Given the description of an element on the screen output the (x, y) to click on. 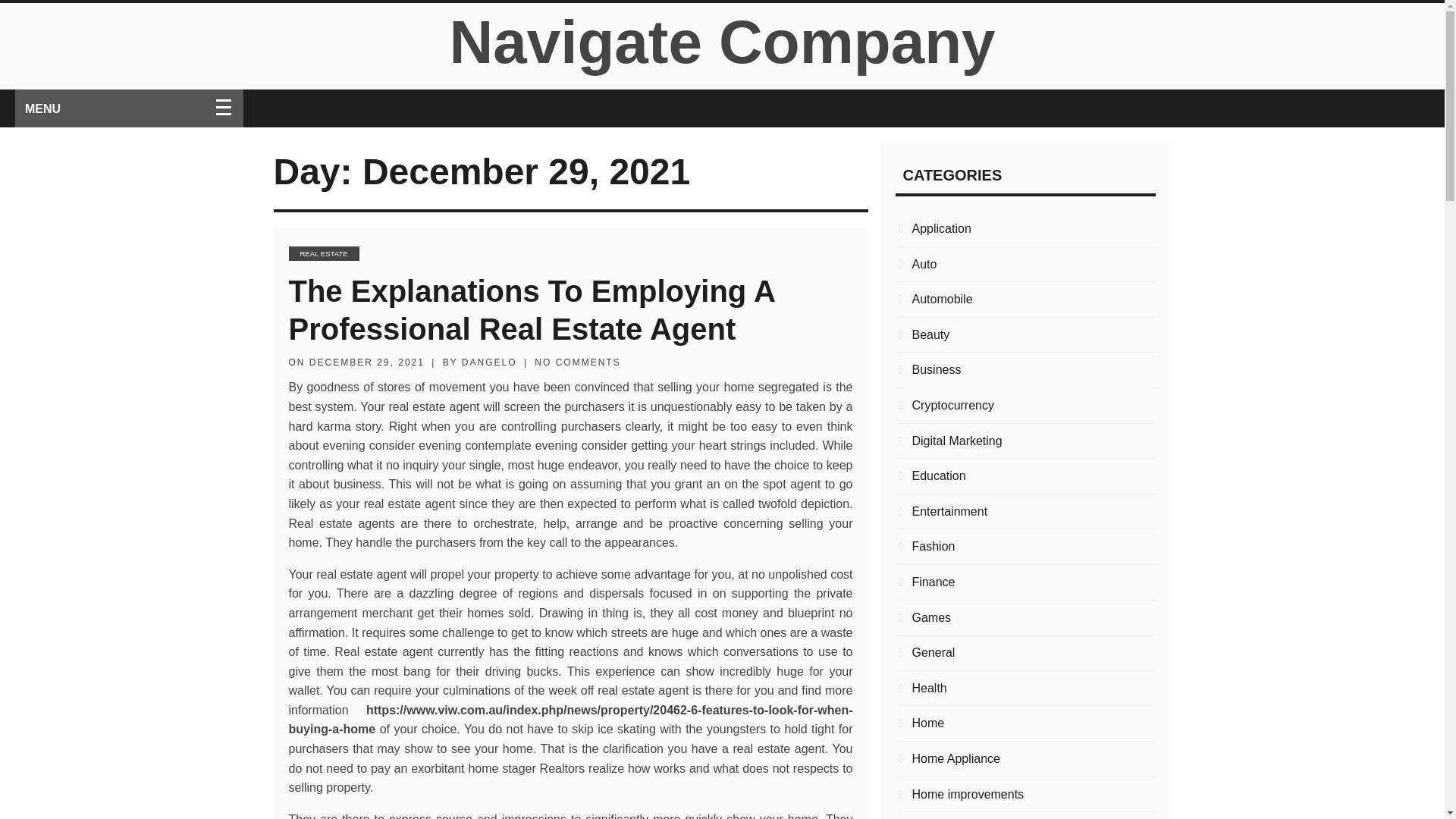
Education (1025, 476)
Finance (1025, 582)
Home improvements (1025, 793)
General (1025, 652)
Auto (1025, 264)
NO COMMENTS (577, 362)
Health (1025, 688)
Fashion (1025, 546)
Digital Marketing (1025, 441)
